Given the description of an element on the screen output the (x, y) to click on. 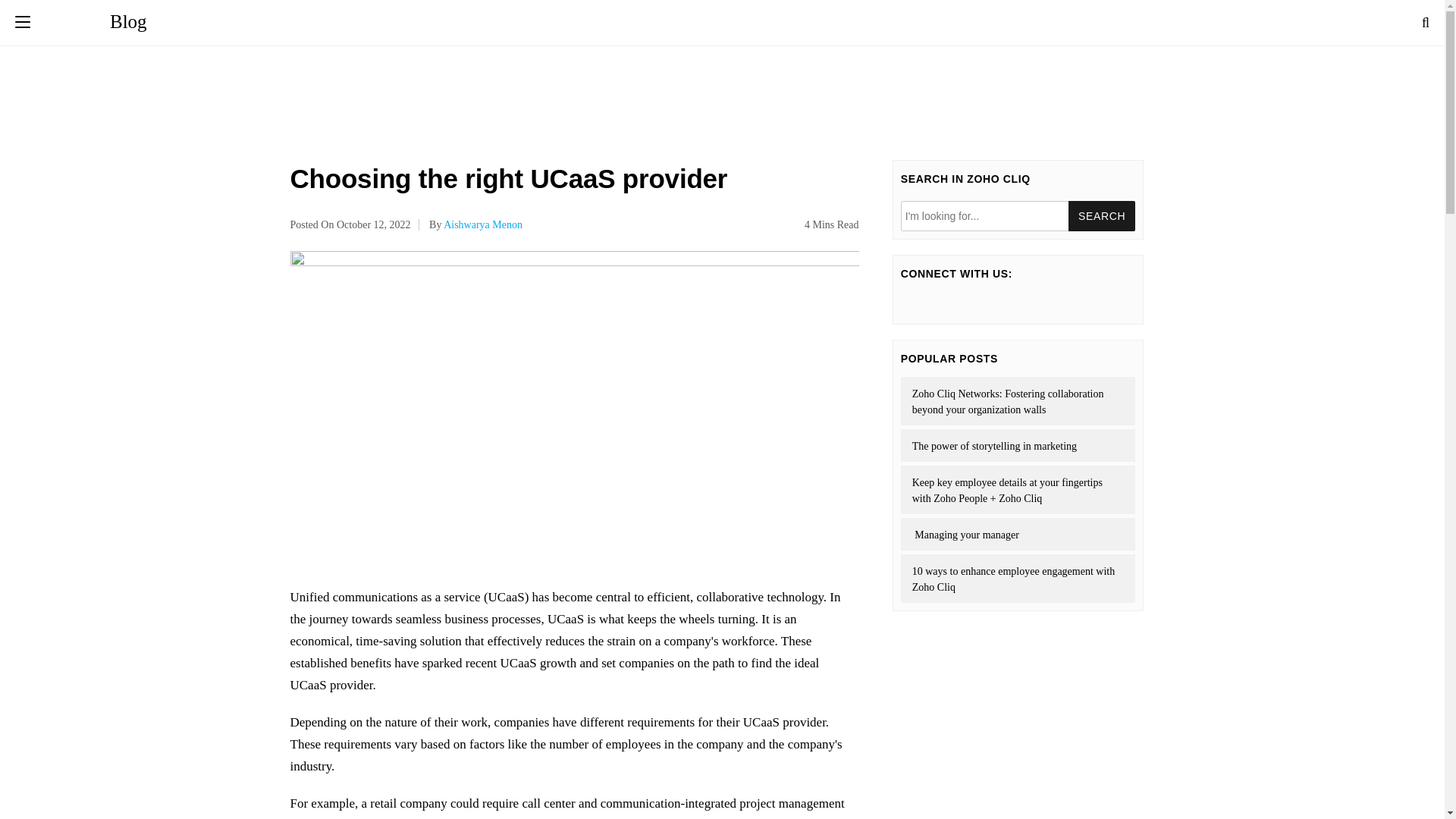
The power of storytelling in marketing (1018, 445)
 Managing your manager (1018, 533)
Aishwarya Menon (483, 224)
10 ways to enhance employee engagement with Zoho Cliq (1018, 578)
Search (1101, 215)
Blog (94, 21)
Search (1101, 215)
